Given the description of an element on the screen output the (x, y) to click on. 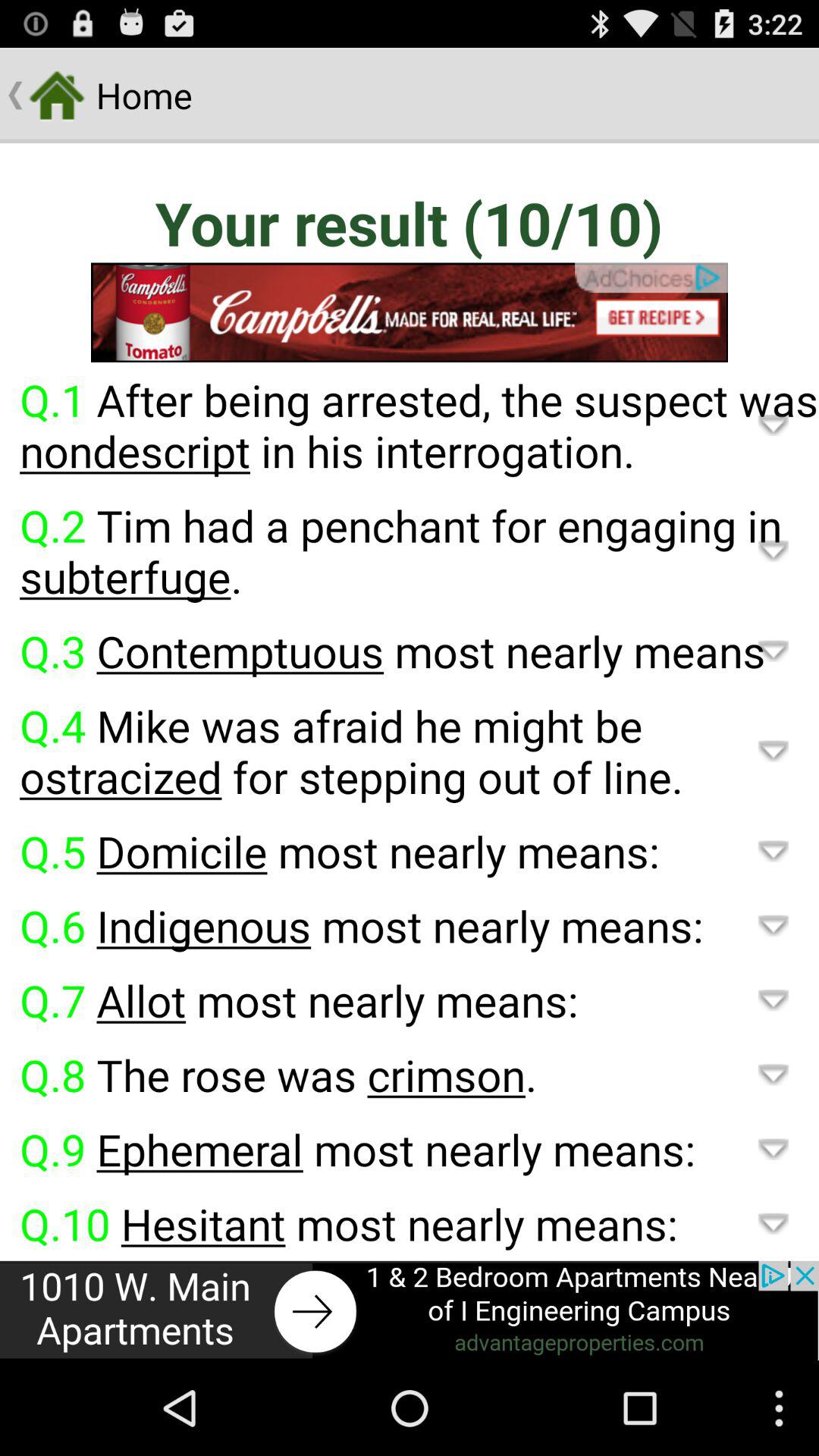
advertisement banner (409, 312)
